Given the description of an element on the screen output the (x, y) to click on. 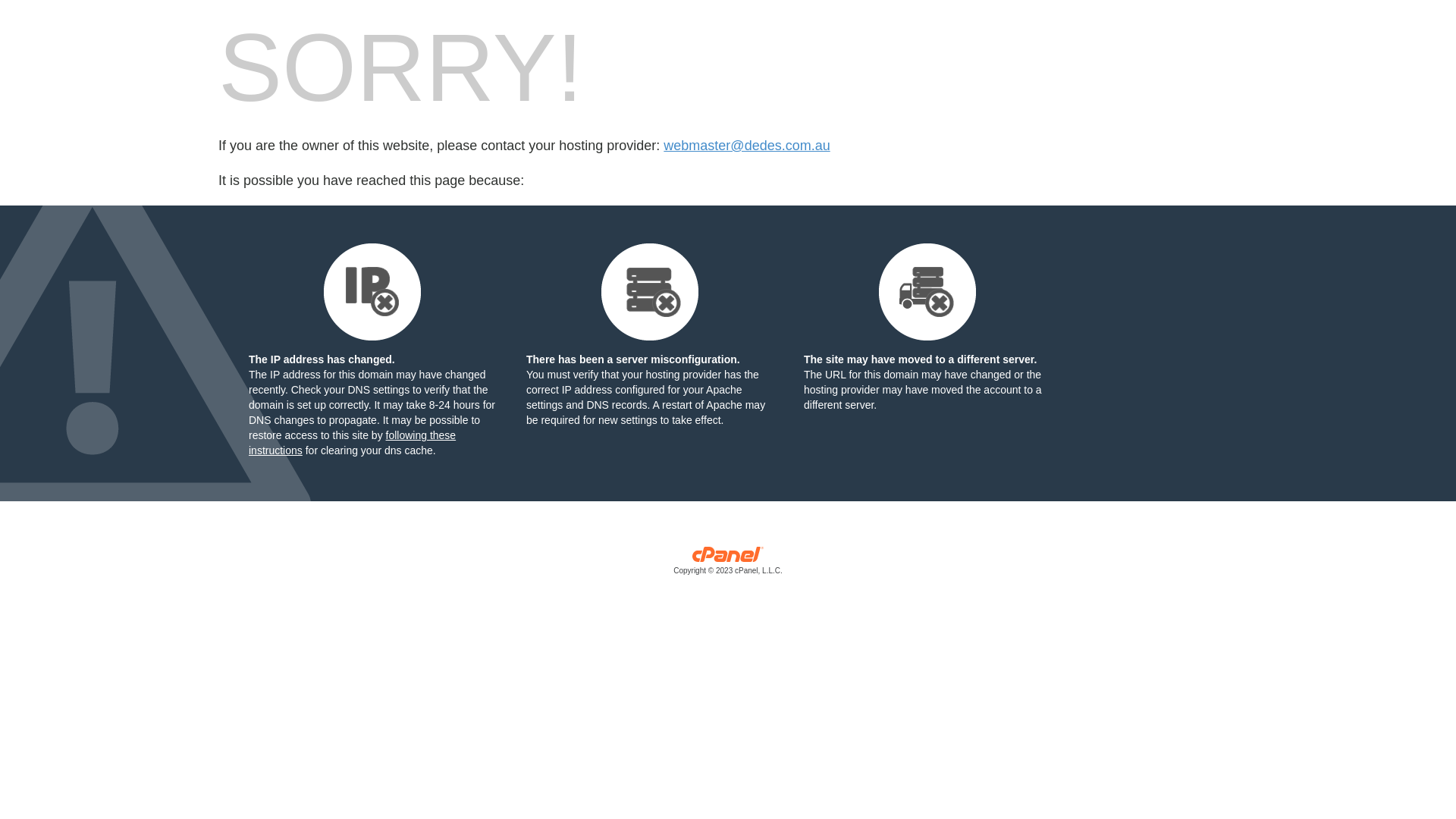
following these instructions Element type: text (351, 442)
webmaster@dedes.com.au Element type: text (746, 145)
